Given the description of an element on the screen output the (x, y) to click on. 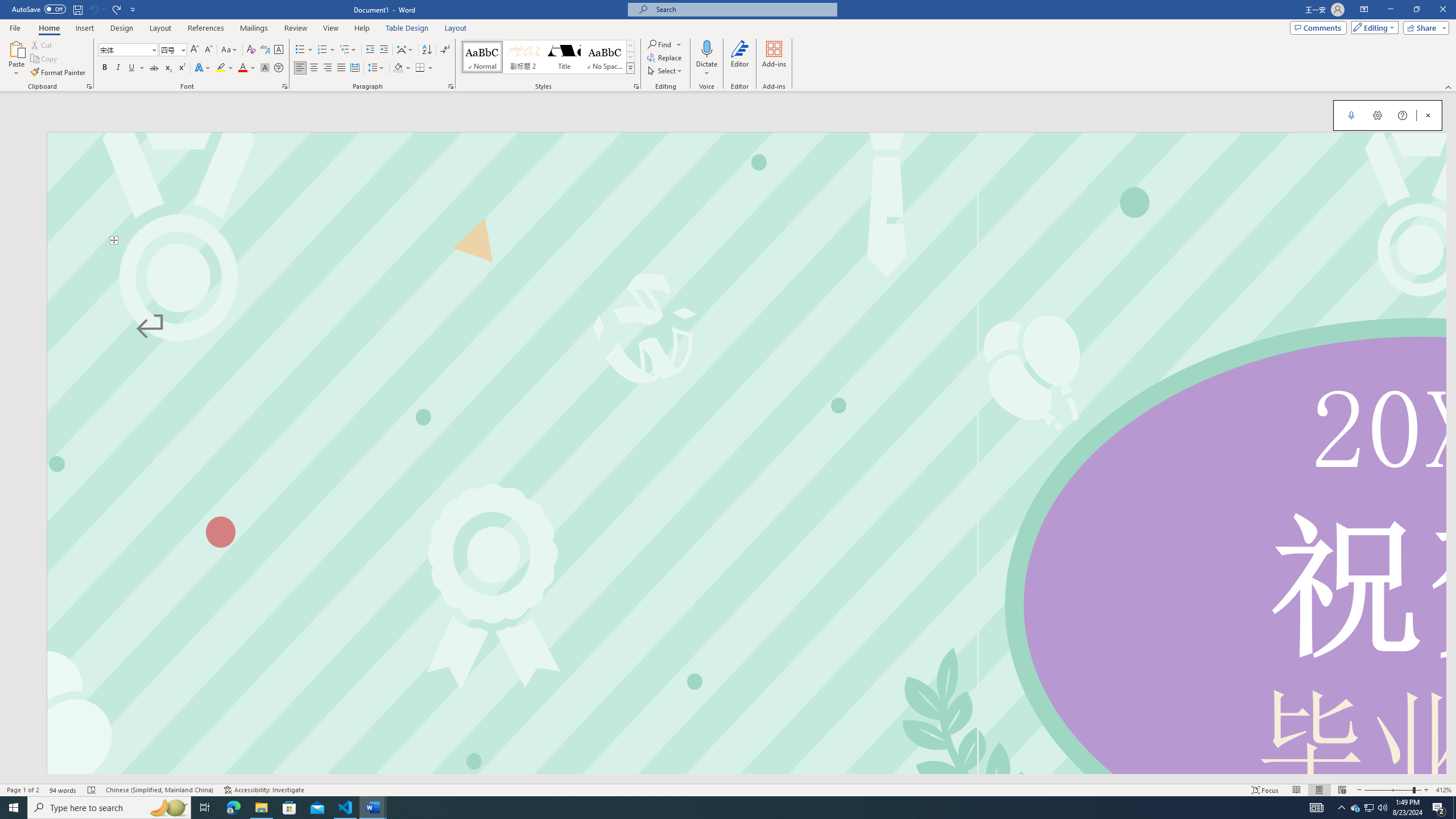
Office Clipboard... (88, 85)
Share (1423, 27)
Distributed (354, 67)
Close (1442, 9)
Ribbon Display Options (1364, 9)
Align Right (327, 67)
Close Dictation (1428, 115)
Shrink Font (208, 49)
Customize Quick Access Toolbar (133, 9)
Review (295, 28)
Can't Undo (96, 9)
Web Layout (1342, 790)
Show/Hide Editing Marks (444, 49)
Enclose Characters... (278, 67)
Borders (419, 67)
